Given the description of an element on the screen output the (x, y) to click on. 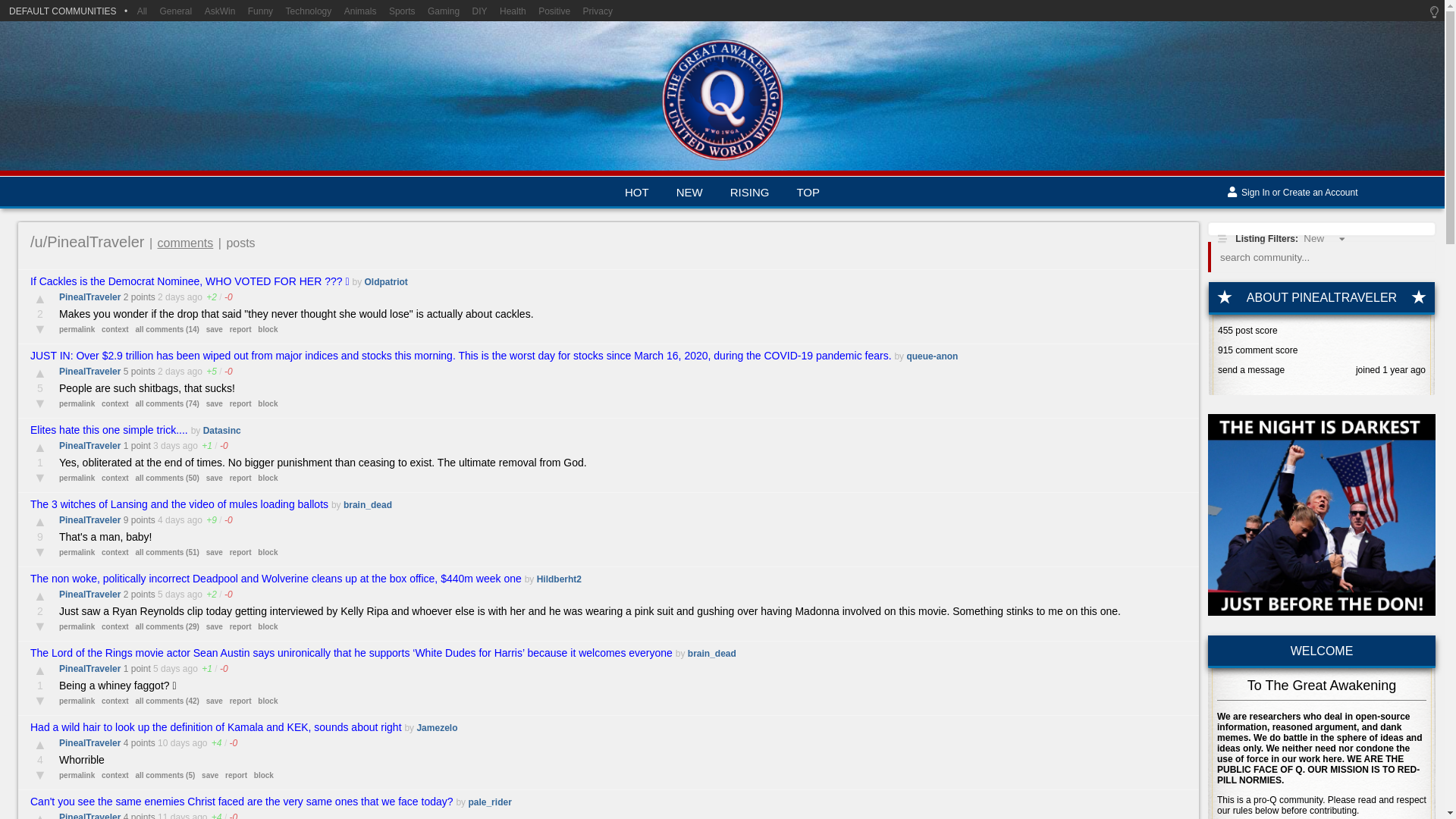
Thu Jul 25 04:55:44 GMT 2024 (173, 815)
Thu Aug 01 13:29:39 GMT 2024 (170, 520)
Wed Jul 31 02:00:34 GMT 2024 (170, 593)
Thu Jul 25 22:07:48 GMT 2024 (173, 742)
Tue Jul 30 18:27:17 GMT 2024 (165, 668)
Fri Aug 02 20:53:40 GMT 2024 (170, 371)
Fri Aug 02 04:28:04 GMT 2024 (165, 445)
Fri Aug 02 23:08:14 GMT 2024 (170, 296)
